Given the description of an element on the screen output the (x, y) to click on. 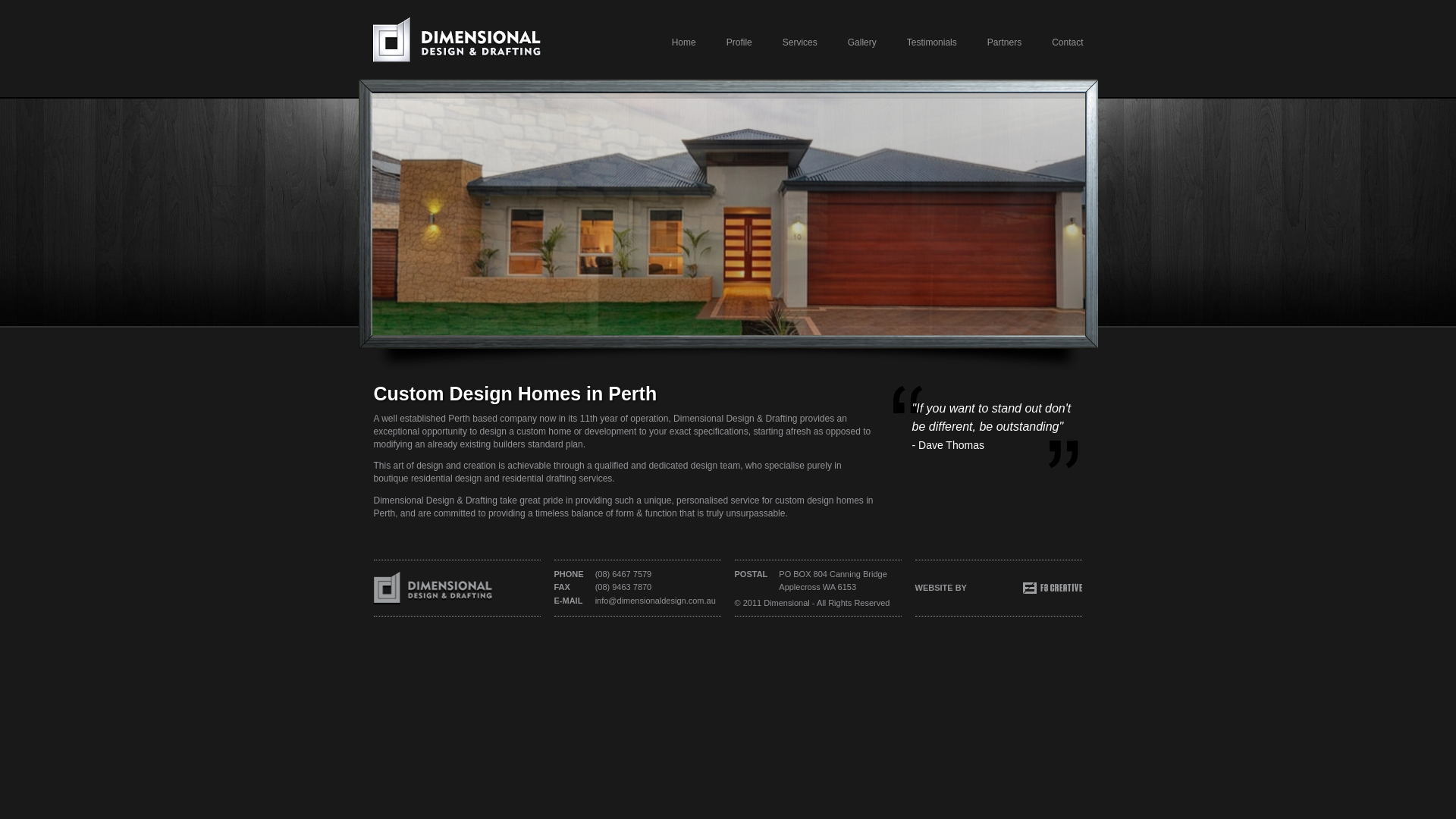
info@dimensionaldesign.com.au Element type: text (655, 600)
Testimonials Element type: text (916, 42)
  Element type: text (433, 587)
WEBSITE BY Element type: text (997, 588)
Gallery Element type: text (846, 42)
Services Element type: text (784, 42)
Home Element type: text (668, 42)
Profile Element type: text (724, 42)
Contact Element type: text (1051, 42)
Partners Element type: text (989, 42)
